Given the description of an element on the screen output the (x, y) to click on. 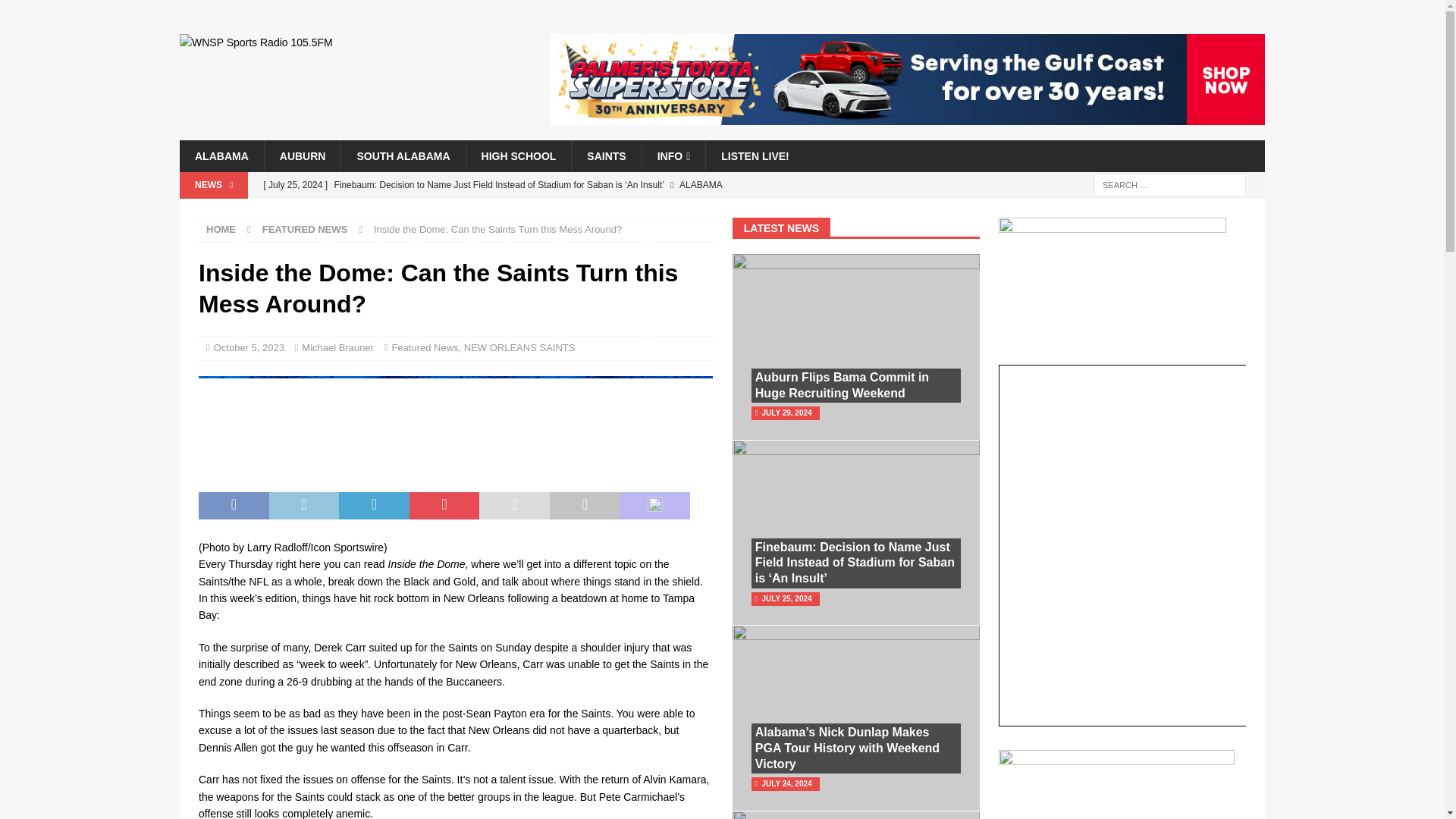
SAINTS (605, 155)
Search (56, 11)
INFO (674, 155)
ALABAMA (221, 155)
LISTEN LIVE! (753, 155)
HIGH SCHOOL (518, 155)
SOUTH ALABAMA (402, 155)
AUBURN (301, 155)
HOME (220, 229)
FEATURED NEWS (304, 229)
